Given the description of an element on the screen output the (x, y) to click on. 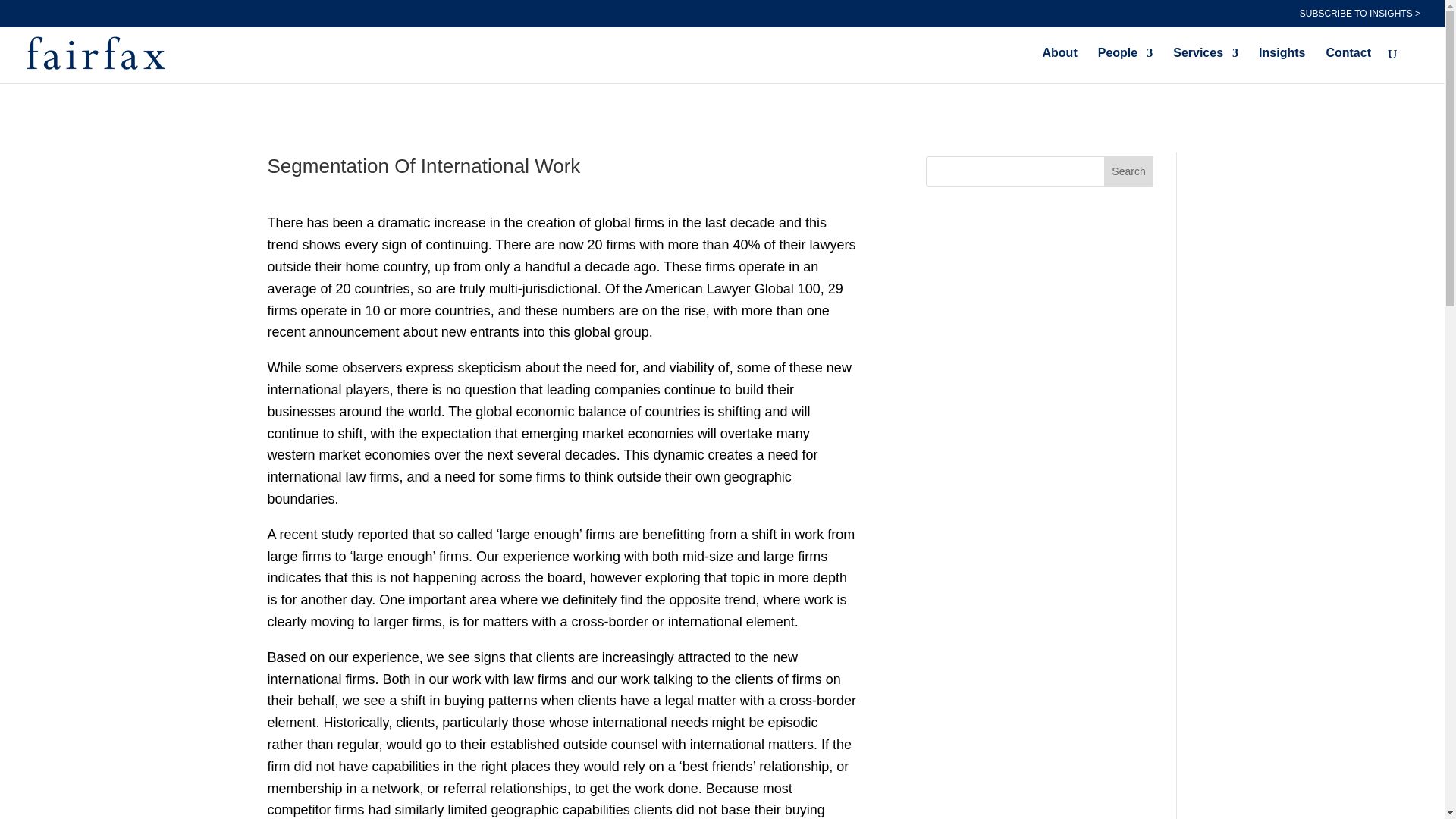
Strategic Priorities for 2024 (1008, 792)
Preventing a Revolving Partner Door: Building Ties that Bind (1038, 643)
Evolving Approaches to Partner Compensation (1021, 697)
Governance and Management (1017, 471)
Process Improvement (992, 355)
About (1059, 65)
Services (1206, 65)
Merger (947, 327)
Partnership (960, 413)
People (1125, 65)
